Given the description of an element on the screen output the (x, y) to click on. 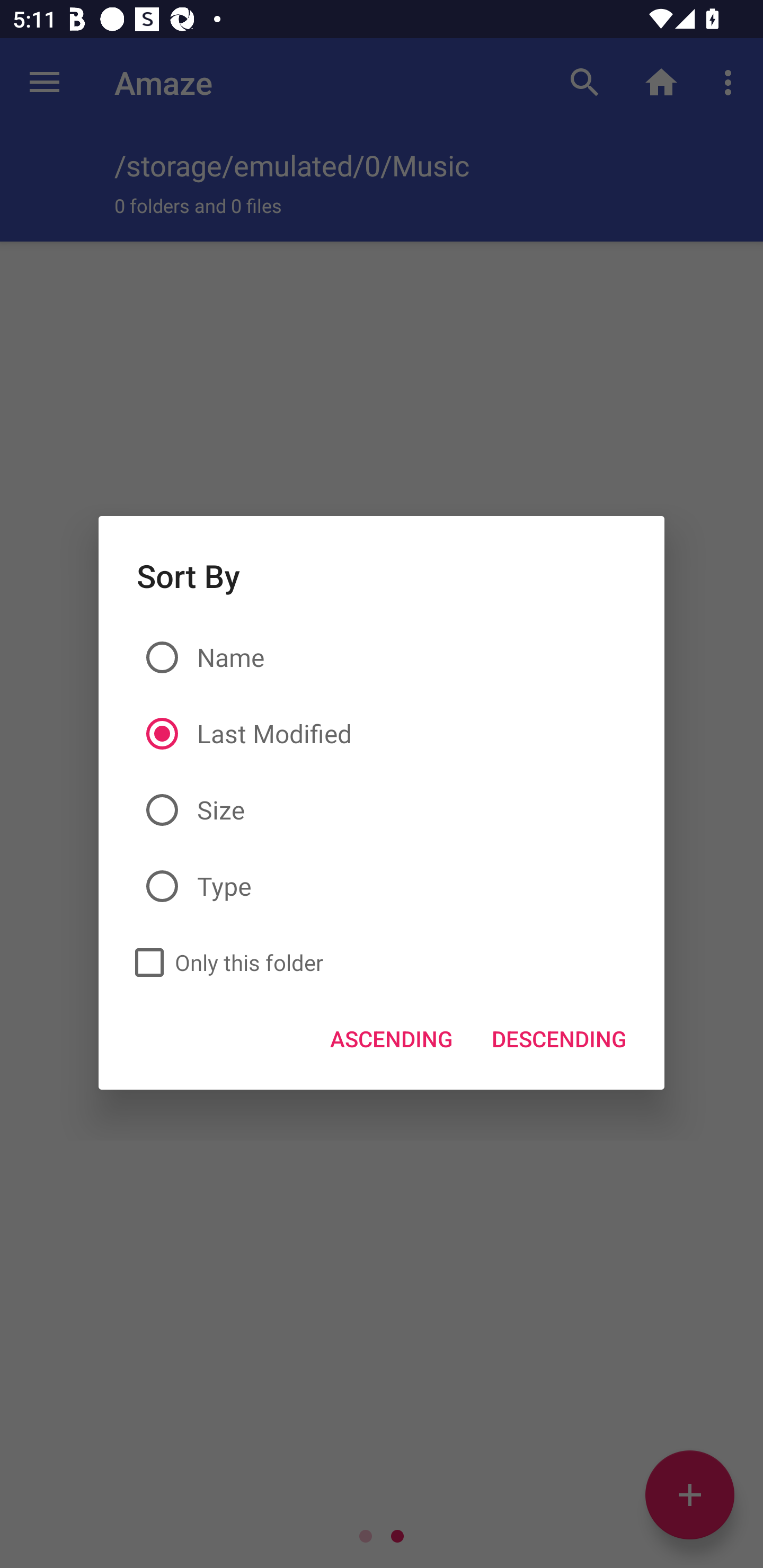
Name (381, 657)
Last Modified (381, 733)
Size (381, 809)
Type (381, 886)
Only this folder (223, 962)
ASCENDING (391, 1038)
DESCENDING (558, 1038)
